Given the description of an element on the screen output the (x, y) to click on. 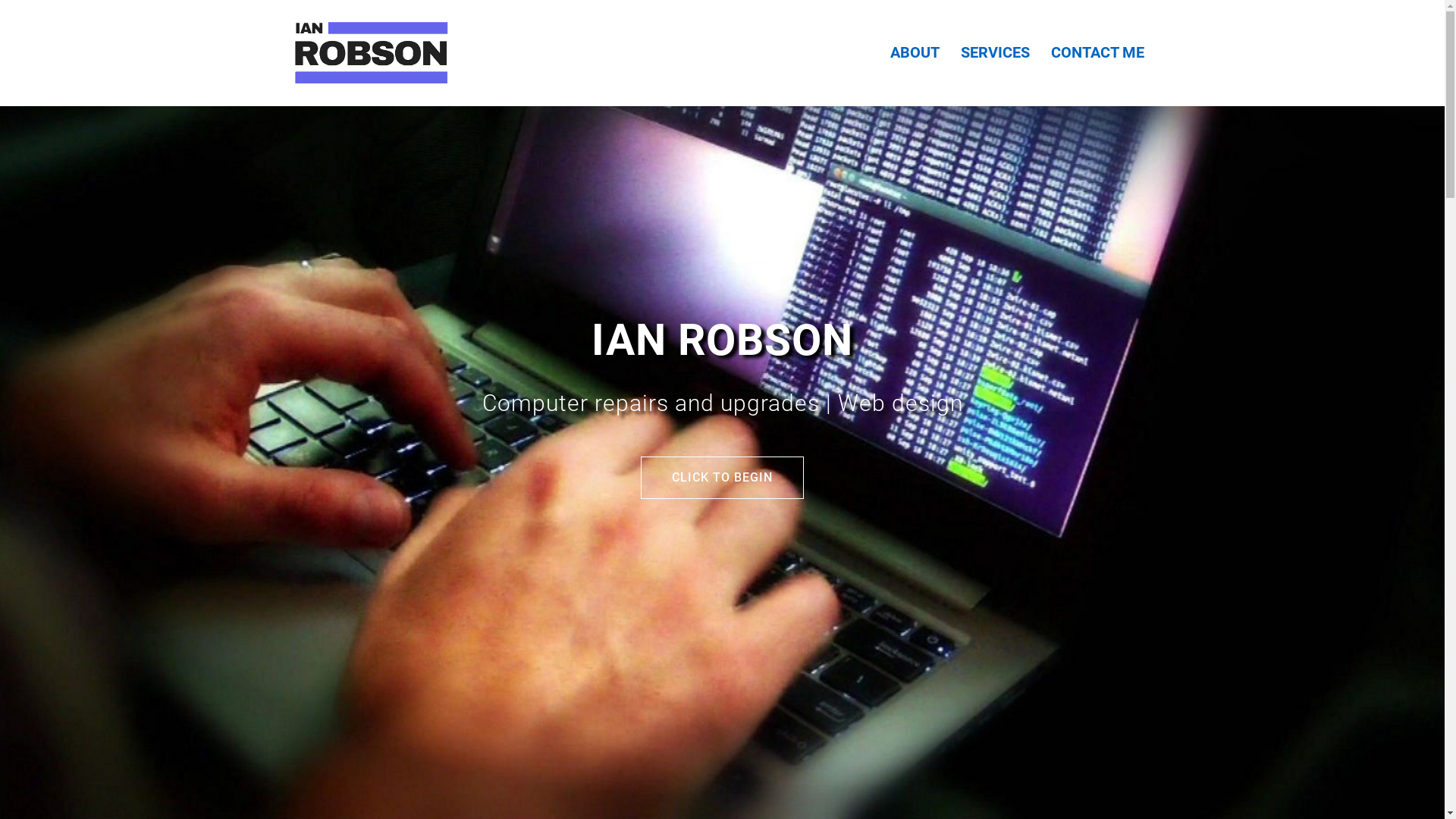
CONTACT ME Element type: text (1097, 52)
SERVICES Element type: text (994, 52)
ABOUT Element type: text (914, 52)
Ian Robson Element type: hover (370, 51)
CLICK TO BEGIN Element type: text (721, 477)
